Given the description of an element on the screen output the (x, y) to click on. 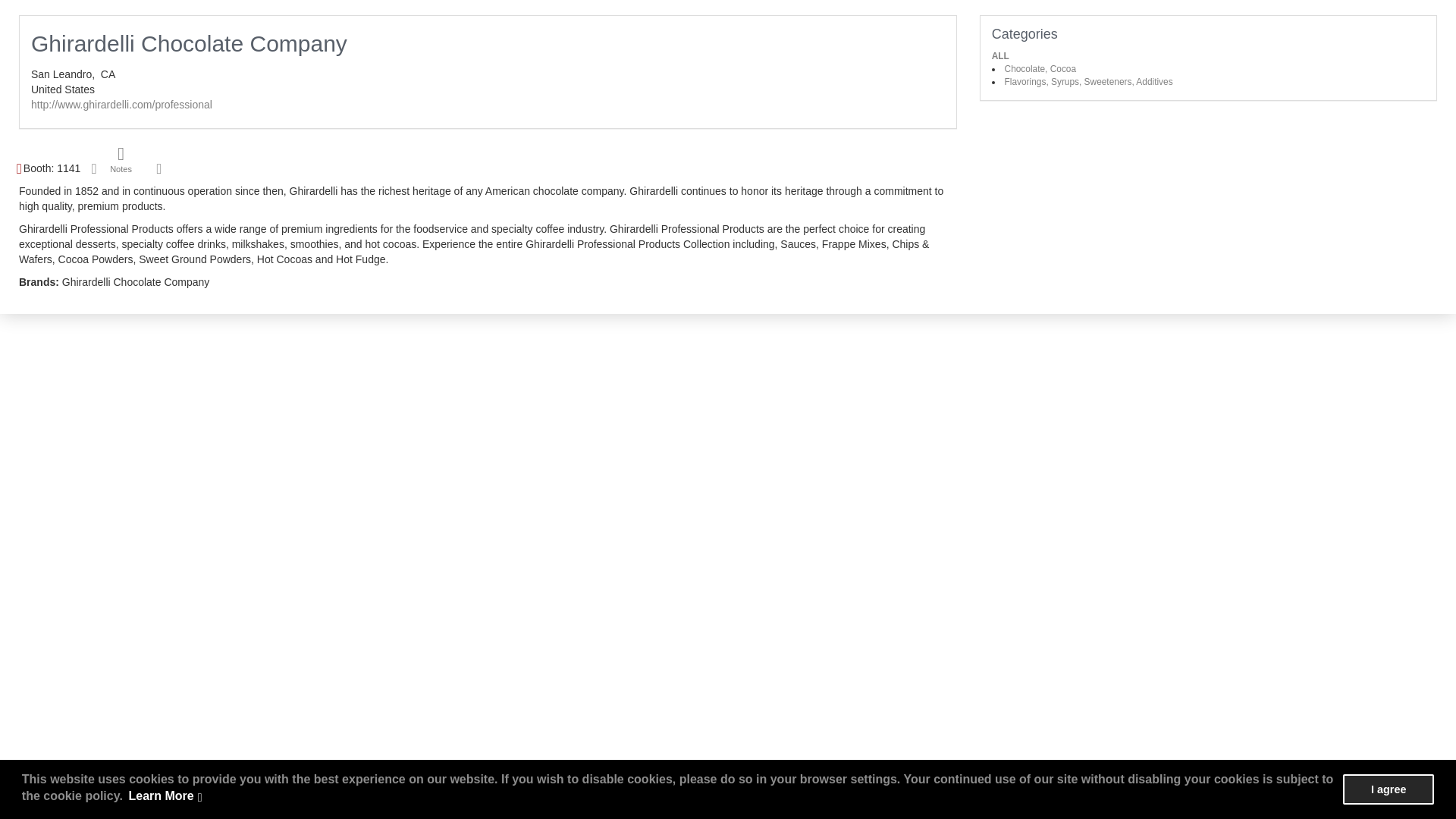
Add To My Exhibitors (158, 168)
ALL (1000, 55)
Flavorings, Syrups, Sweeteners, Additives (1088, 81)
Chocolate, Cocoa (1040, 68)
Print (93, 168)
